Given the description of an element on the screen output the (x, y) to click on. 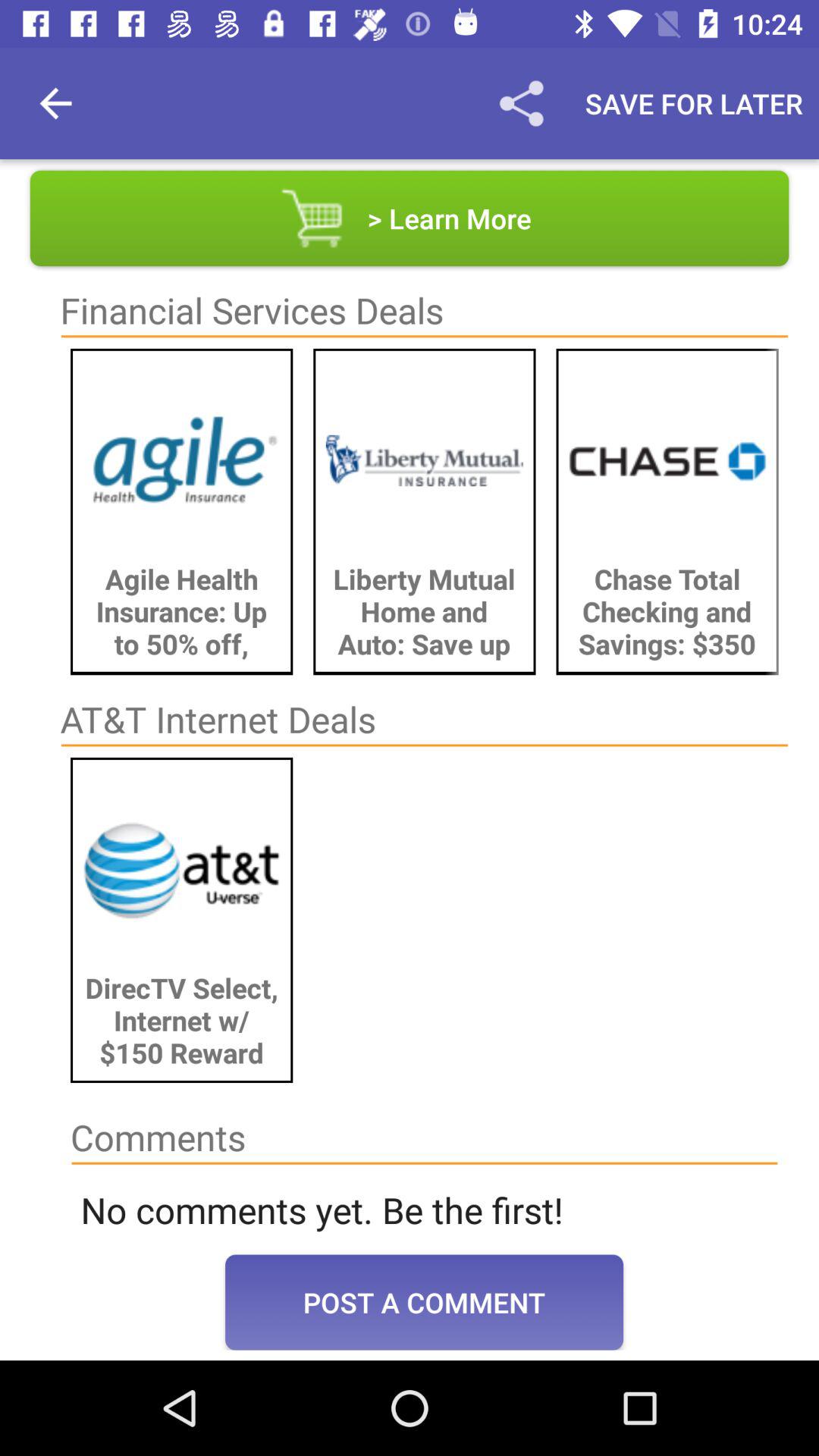
launch icon above the > learn more (694, 103)
